Given the description of an element on the screen output the (x, y) to click on. 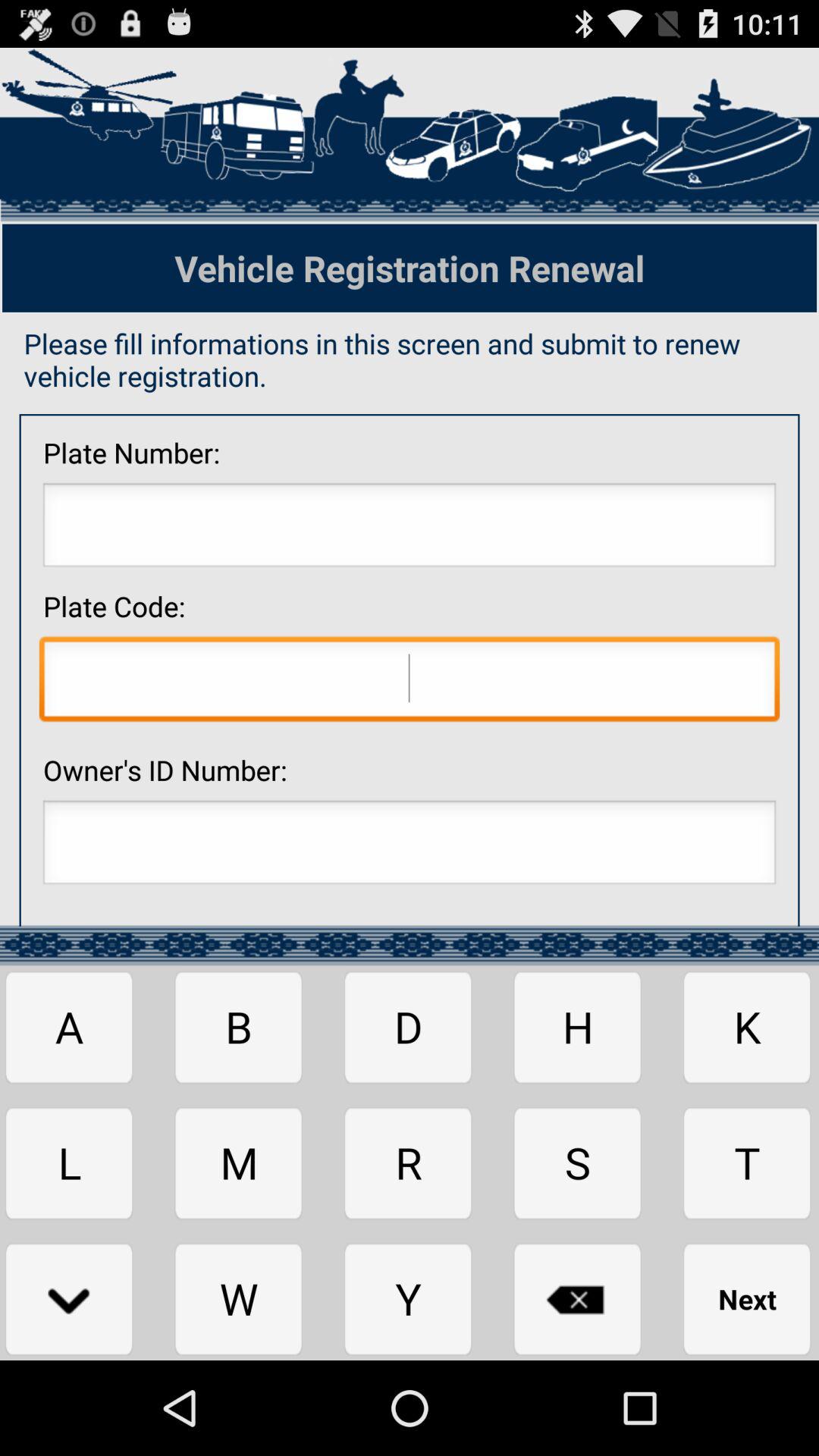
enter the plate code (409, 682)
